Given the description of an element on the screen output the (x, y) to click on. 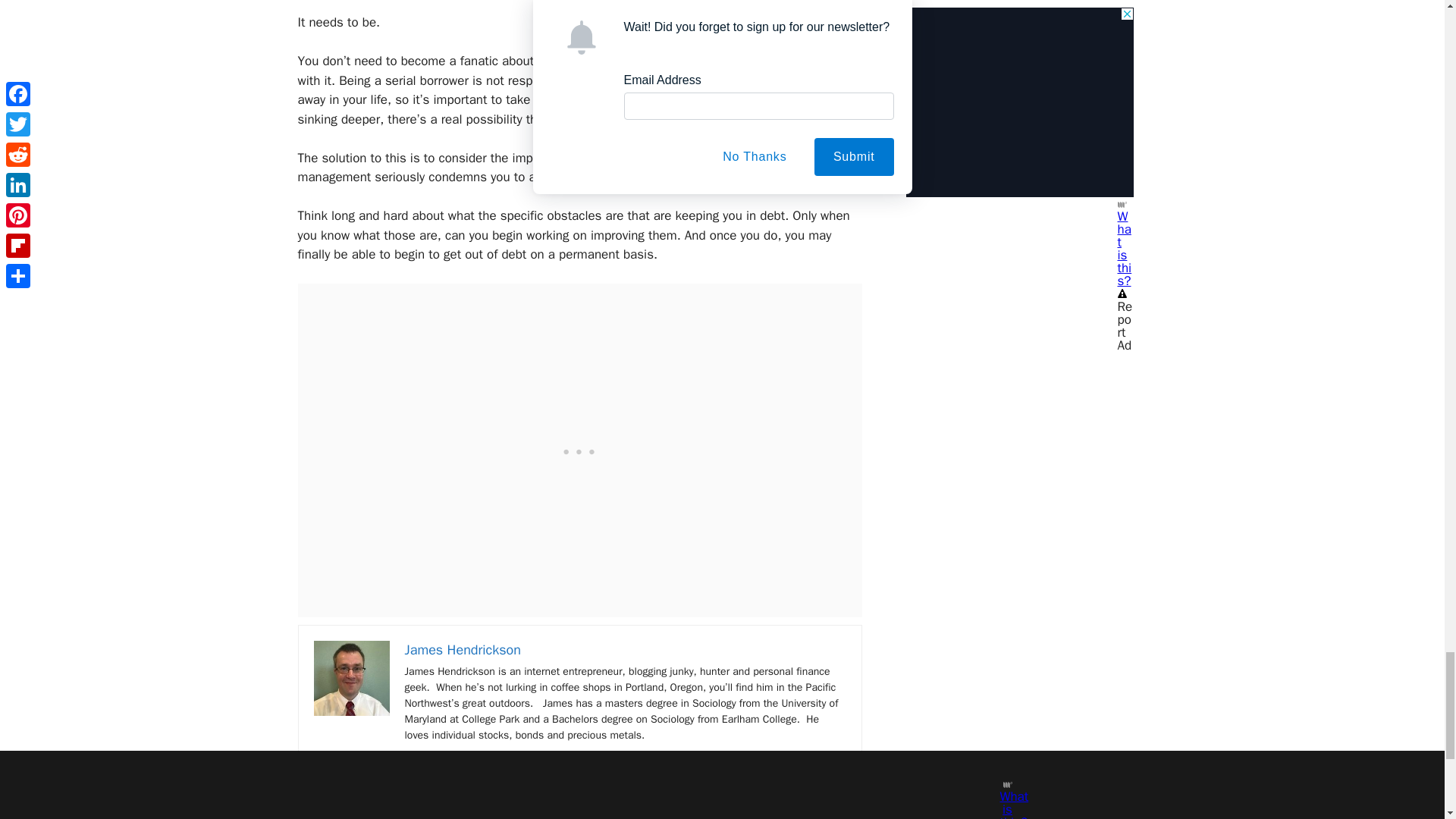
James Hendrickson (462, 649)
